Given the description of an element on the screen output the (x, y) to click on. 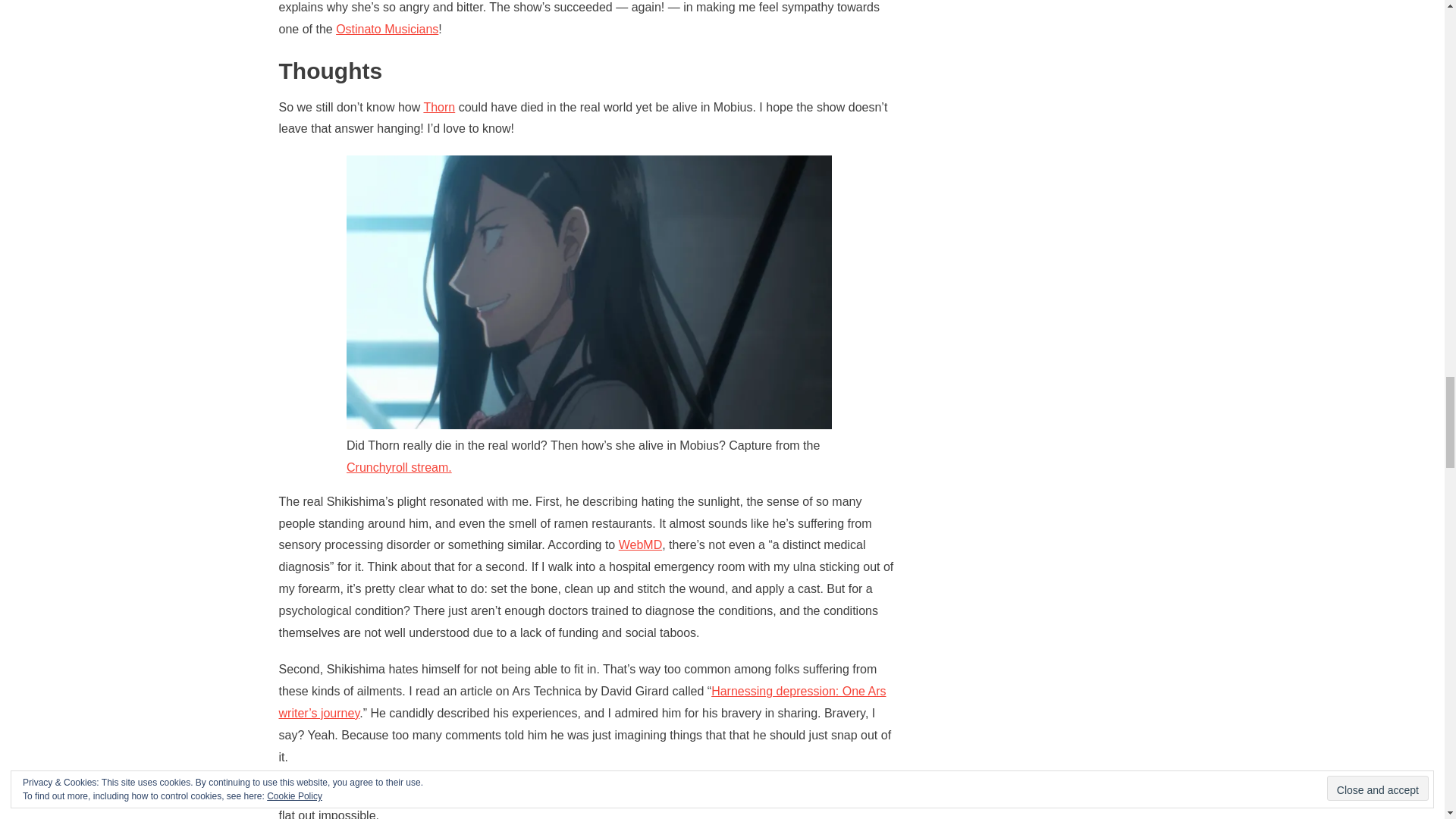
Ostinato Musicians (387, 29)
Thorn (438, 106)
